Given the description of an element on the screen output the (x, y) to click on. 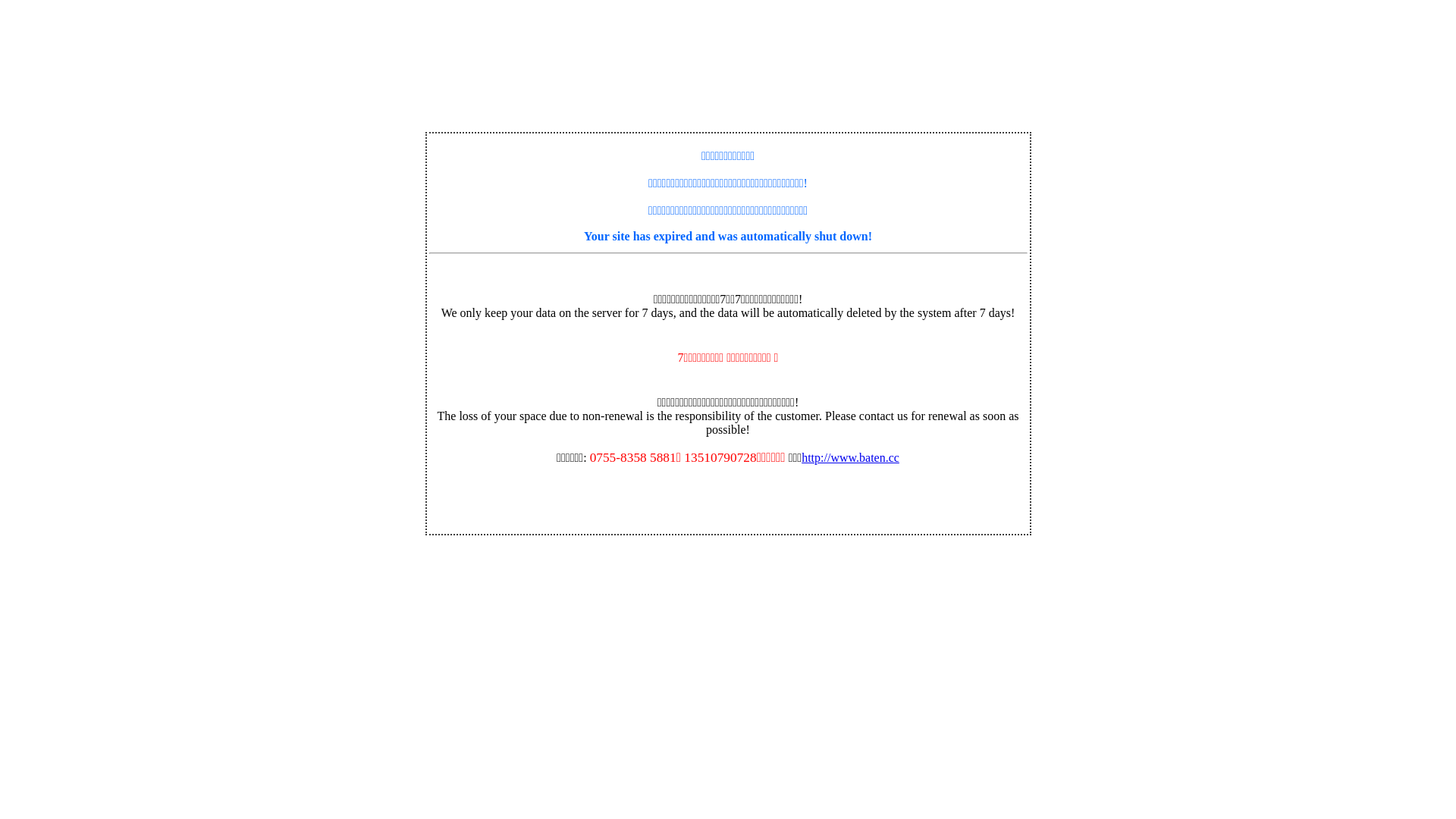
http://www.baten.cc Element type: text (850, 457)
